Given the description of an element on the screen output the (x, y) to click on. 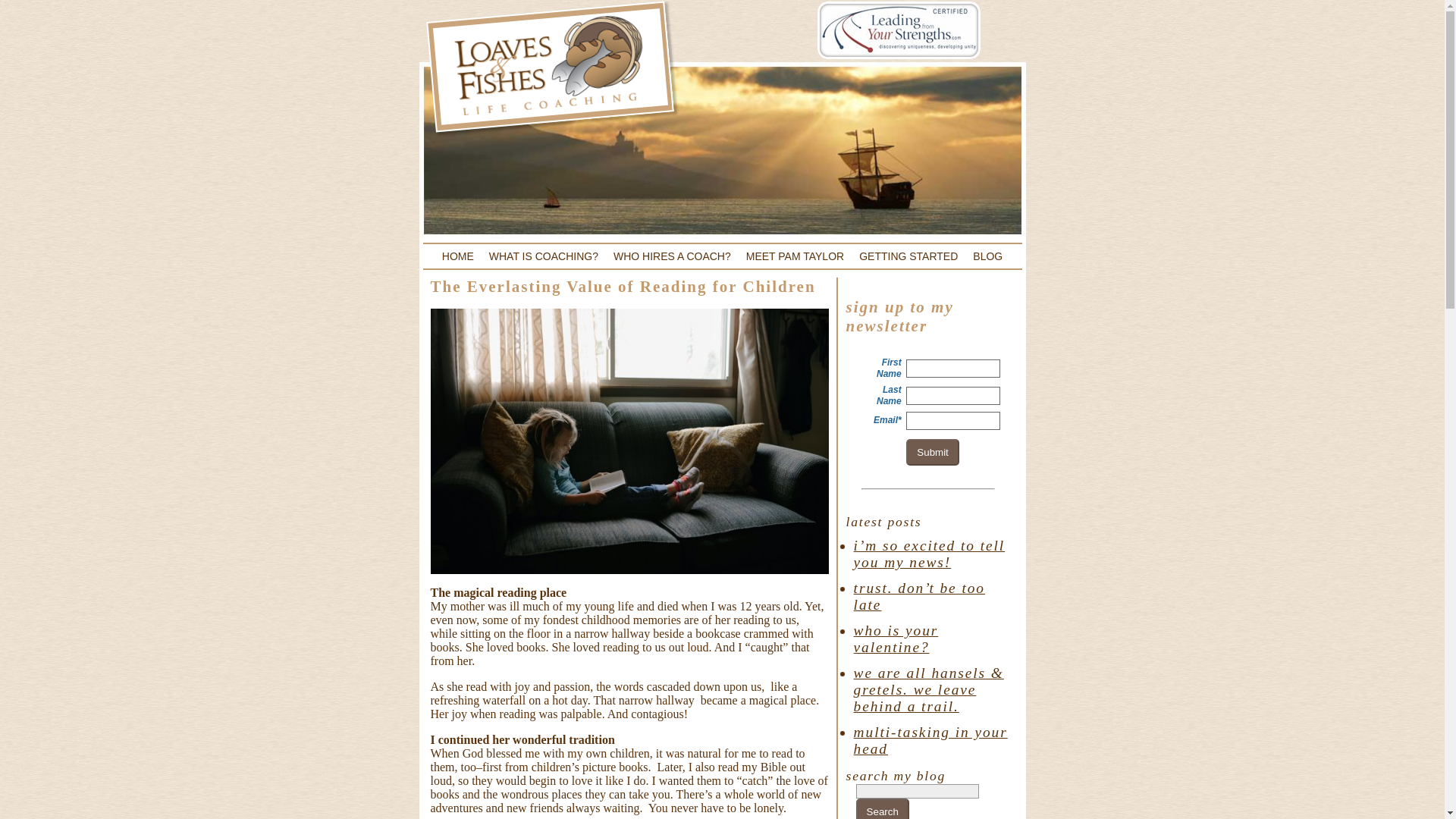
BLOG (987, 256)
multi-tasking in your head (930, 739)
WHAT IS COACHING? (543, 256)
Search (882, 808)
HOME (458, 256)
MEET PAM TAYLOR (794, 256)
The Everlasting Value of Reading for Children (622, 286)
WHO HIRES A COACH? (671, 256)
who is your valentine? (896, 638)
GETTING STARTED (908, 256)
Search (882, 808)
Submit (931, 452)
